Given the description of an element on the screen output the (x, y) to click on. 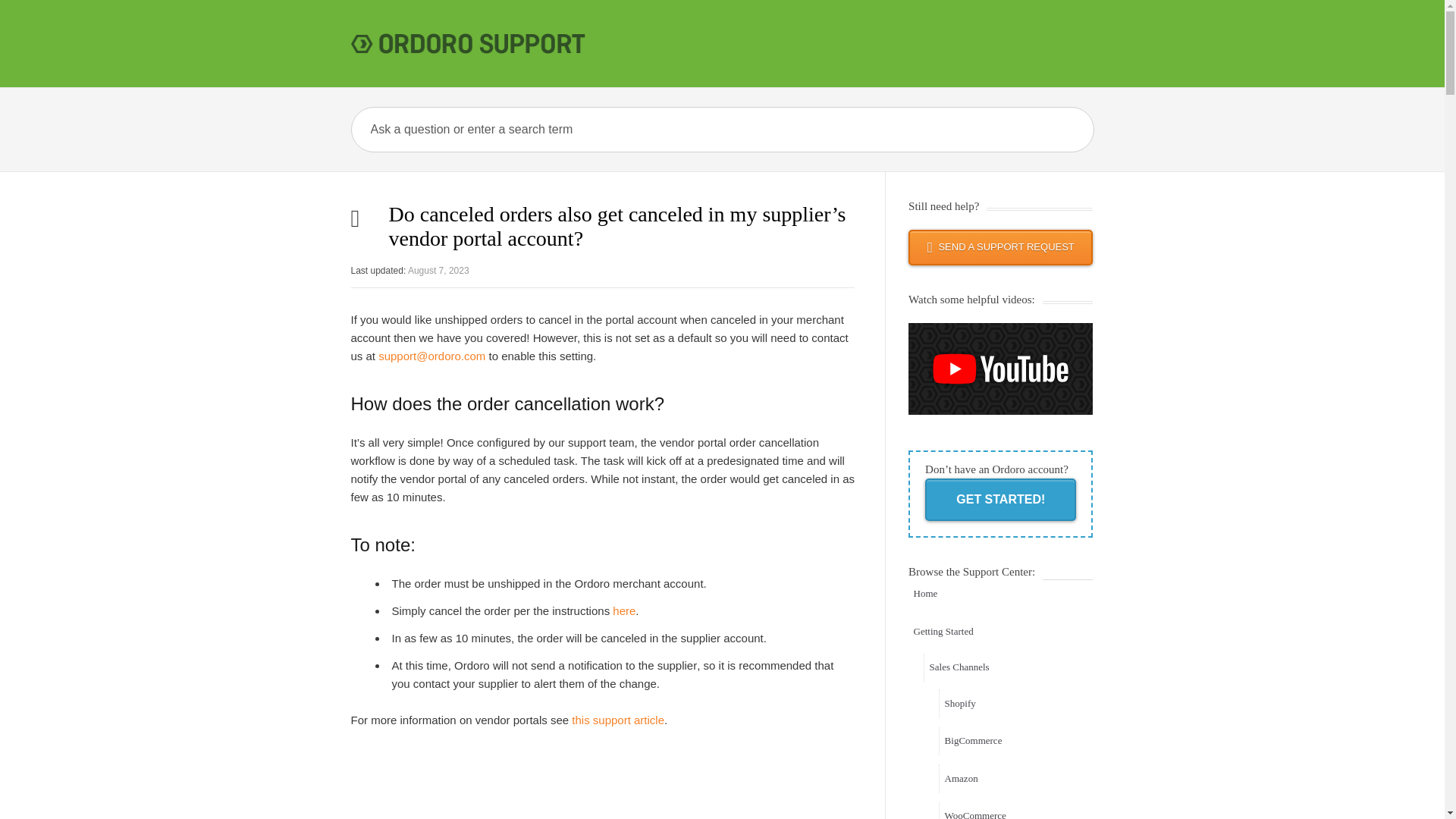
SEND A SUPPORT REQUEST (1000, 247)
Home (1000, 594)
Getting Started (1000, 631)
Ask a question or enter a search term (648, 129)
Amazon (1016, 778)
Shopify (1016, 703)
this support article (617, 719)
GET STARTED! (999, 499)
here (623, 610)
WooCommerce (1016, 810)
Sales Channels (1008, 667)
BigCommerce (1016, 741)
Ordoro Support (471, 43)
Return Home (1000, 594)
